Given the description of an element on the screen output the (x, y) to click on. 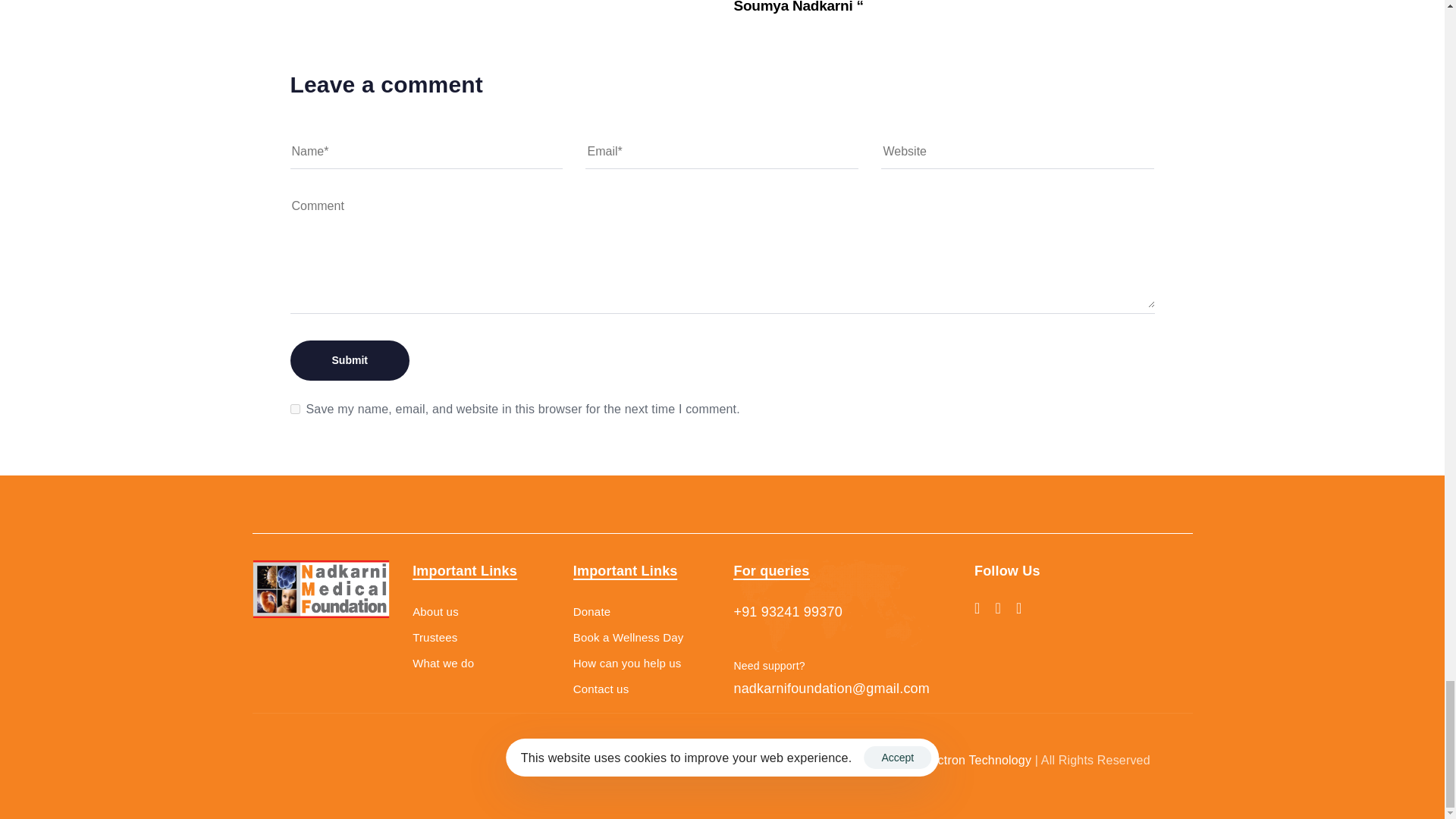
Submit (349, 360)
yes (294, 409)
